Given the description of an element on the screen output the (x, y) to click on. 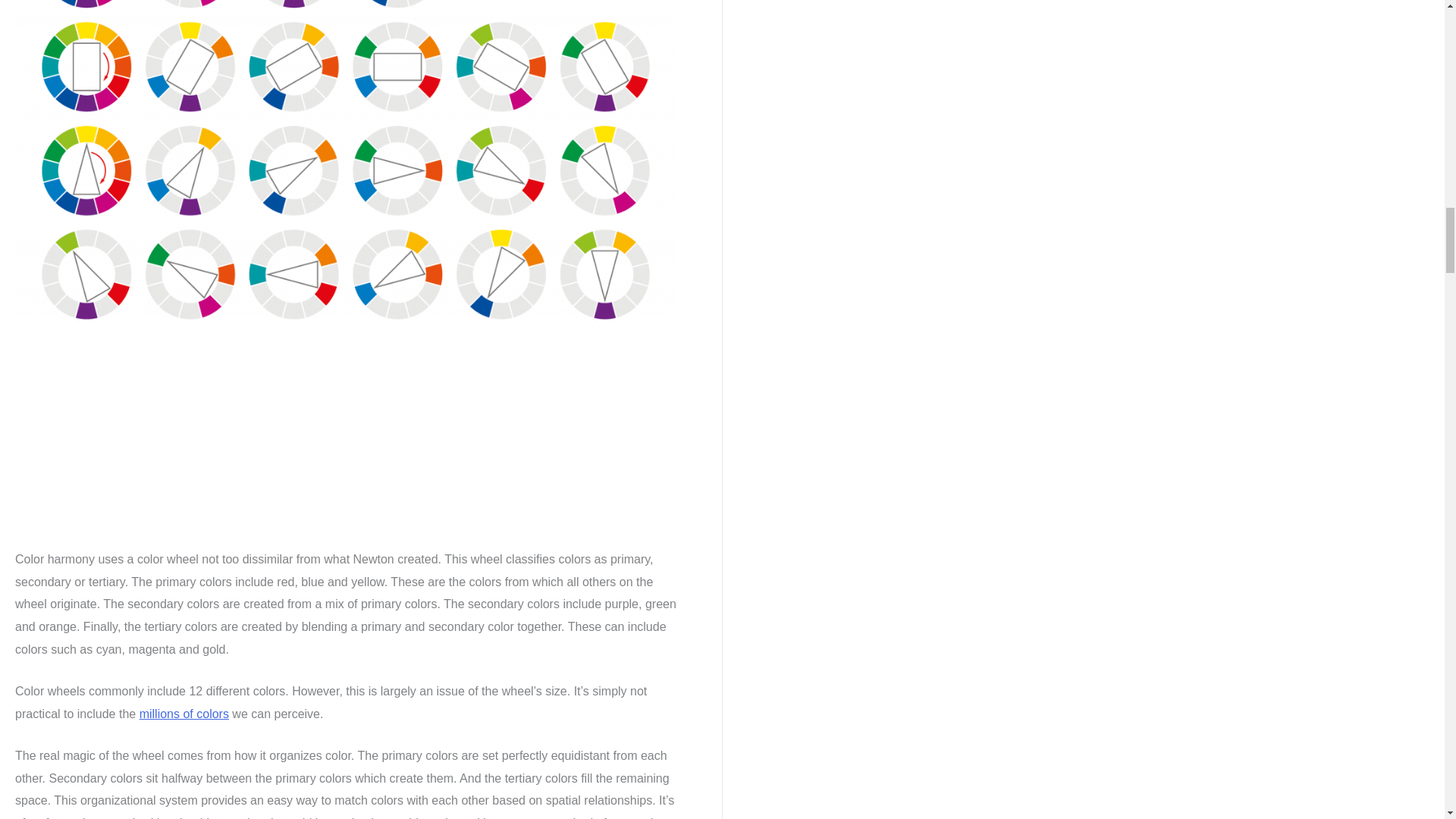
millions of colors (183, 713)
